Given the description of an element on the screen output the (x, y) to click on. 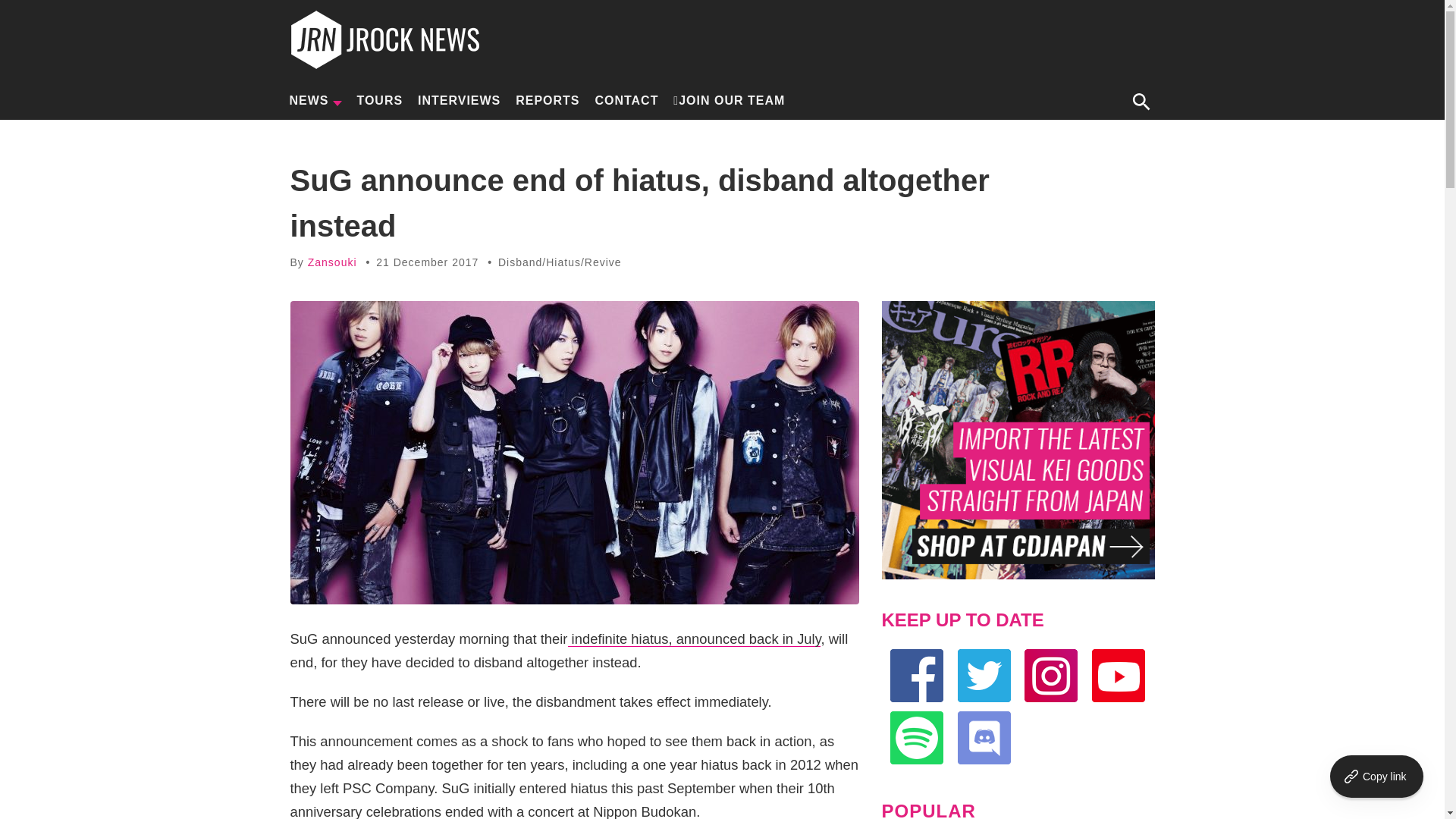
Zansouki (331, 262)
indefinite hiatus, announced back in July (694, 638)
Posts by Zansouki (331, 262)
REPORTS (547, 100)
TOURS (379, 100)
NEWS (314, 100)
CONTACT (626, 100)
INTERVIEWS (458, 100)
